Given the description of an element on the screen output the (x, y) to click on. 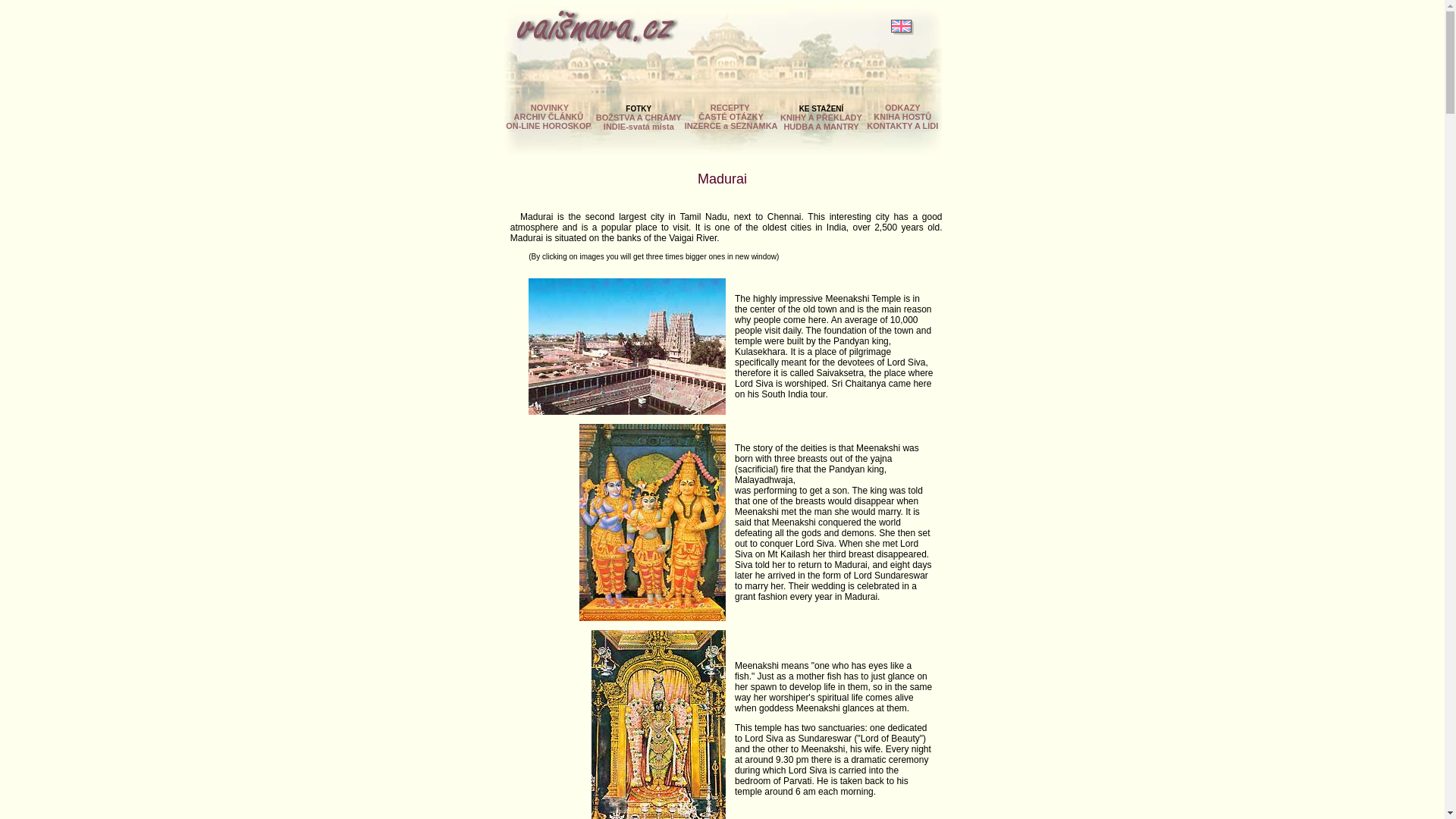
 NOVINKY (548, 107)
ON-LINE HOROSKOP (548, 125)
INZERCE a SEZNAMKA (730, 125)
HUDBA A MANTRY (821, 126)
ODKAZY (902, 107)
KONTAKTY A LIDI (901, 125)
RECEPTY (729, 107)
